Given the description of an element on the screen output the (x, y) to click on. 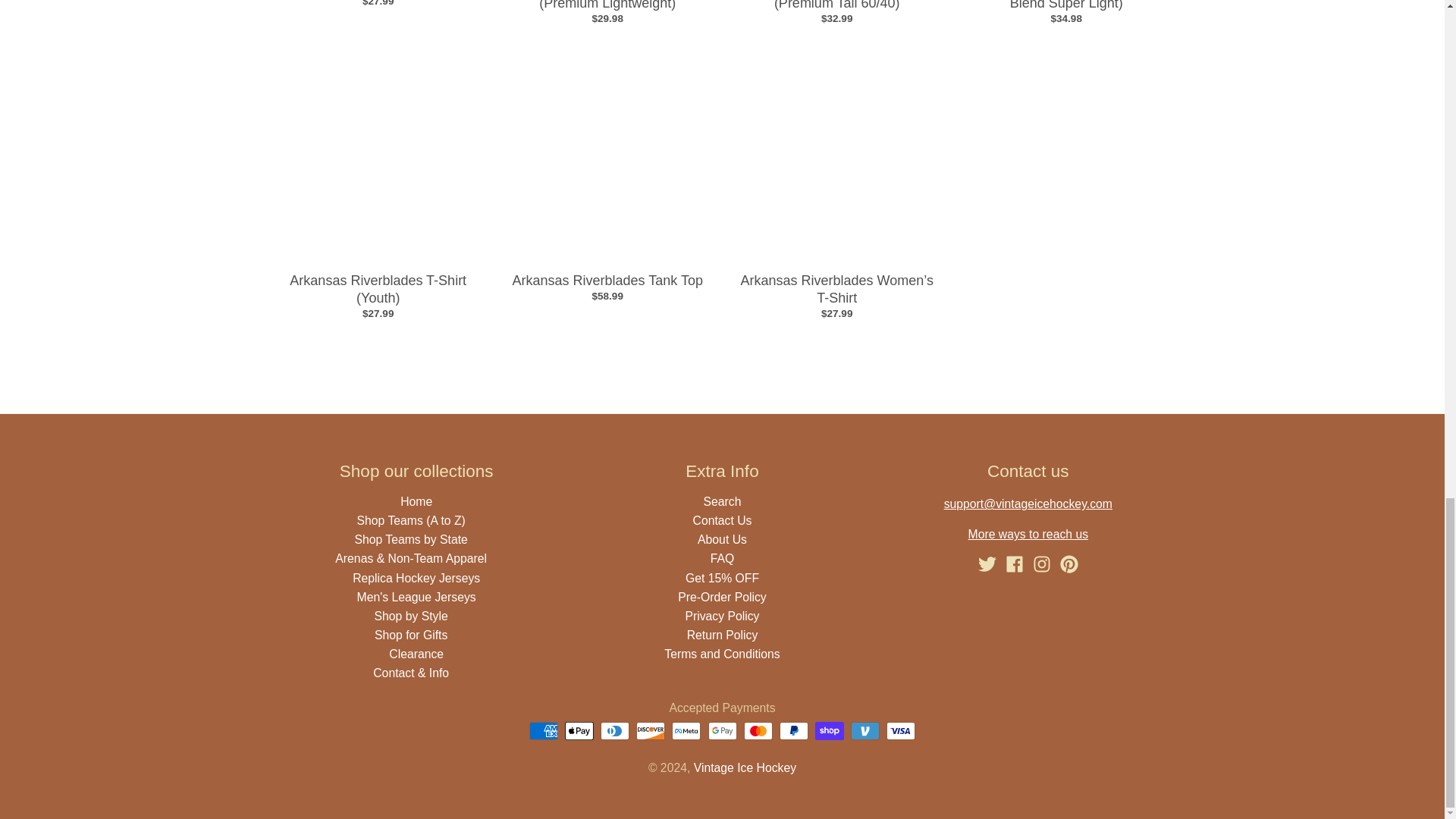
Facebook - Vintage Ice Hockey (1014, 564)
Contact Us (1027, 533)
Instagram - Vintage Ice Hockey (1041, 564)
Pinterest - Vintage Ice Hockey (1068, 564)
Twitter - Vintage Ice Hockey (986, 564)
